Given the description of an element on the screen output the (x, y) to click on. 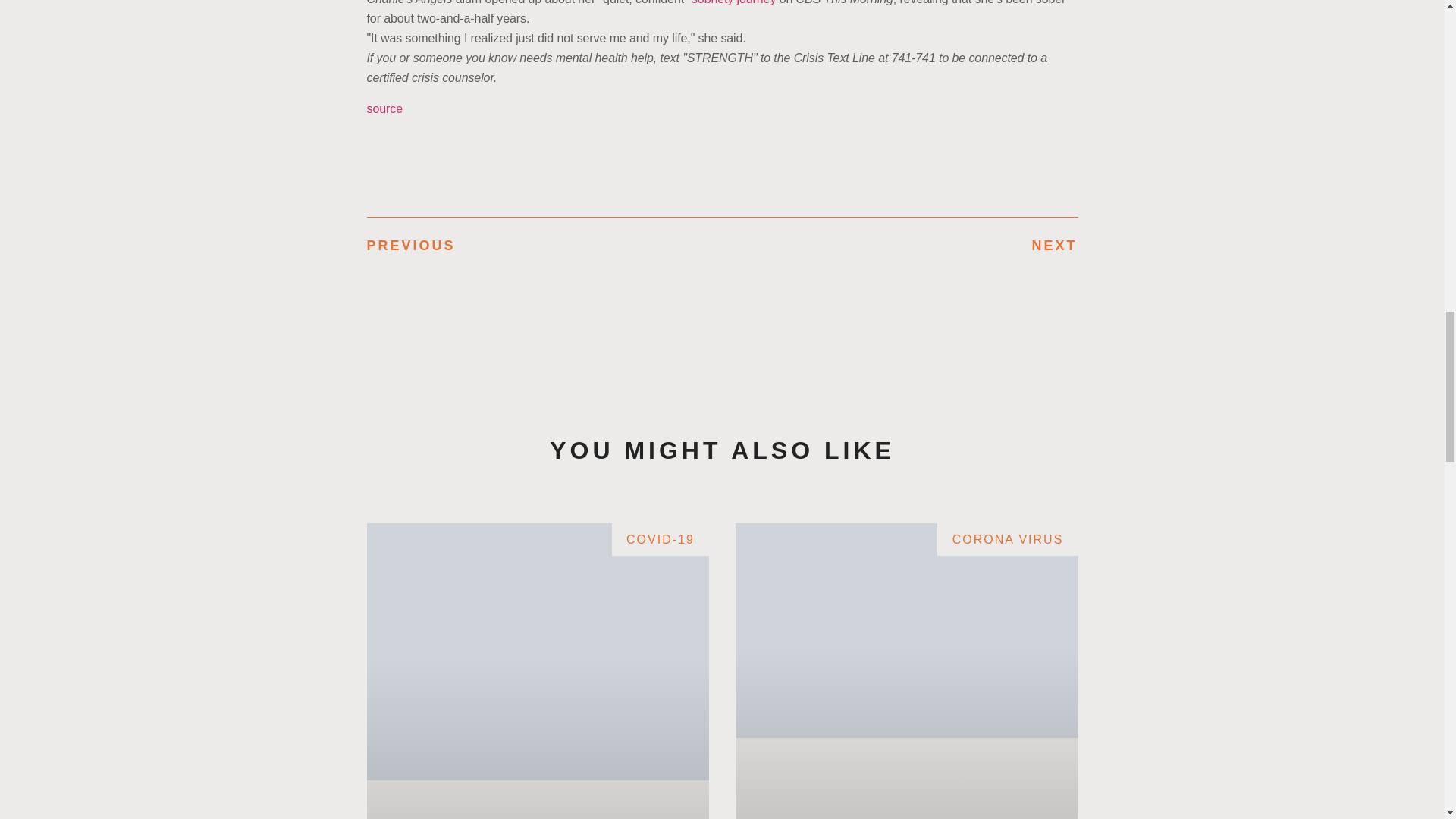
PREVIOUS (544, 245)
source (384, 108)
sobriety journey (733, 2)
NEXT (899, 245)
